Given the description of an element on the screen output the (x, y) to click on. 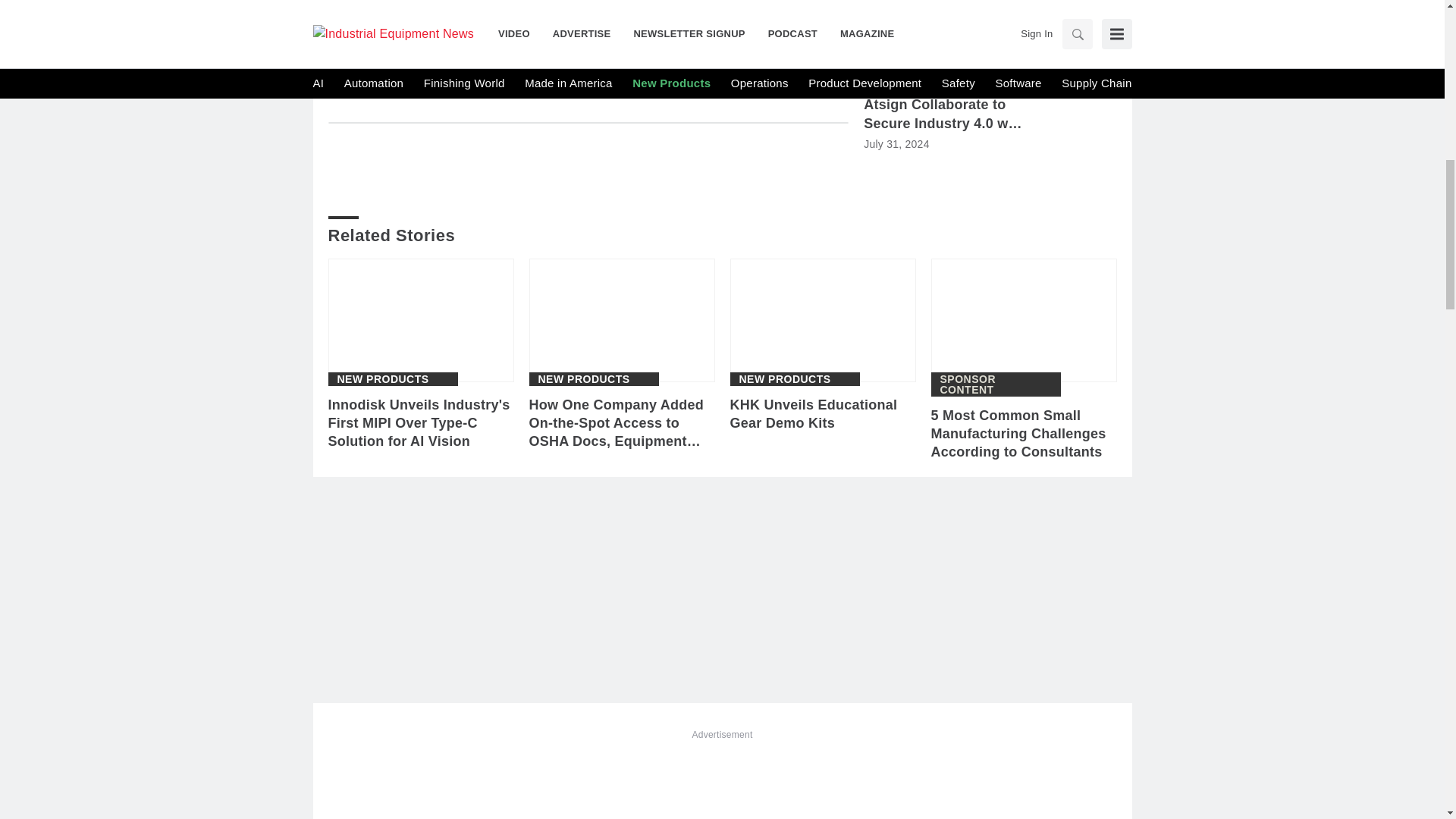
New Products (783, 378)
New Products (584, 378)
New Products (382, 378)
Sponsor Content (996, 383)
